Given the description of an element on the screen output the (x, y) to click on. 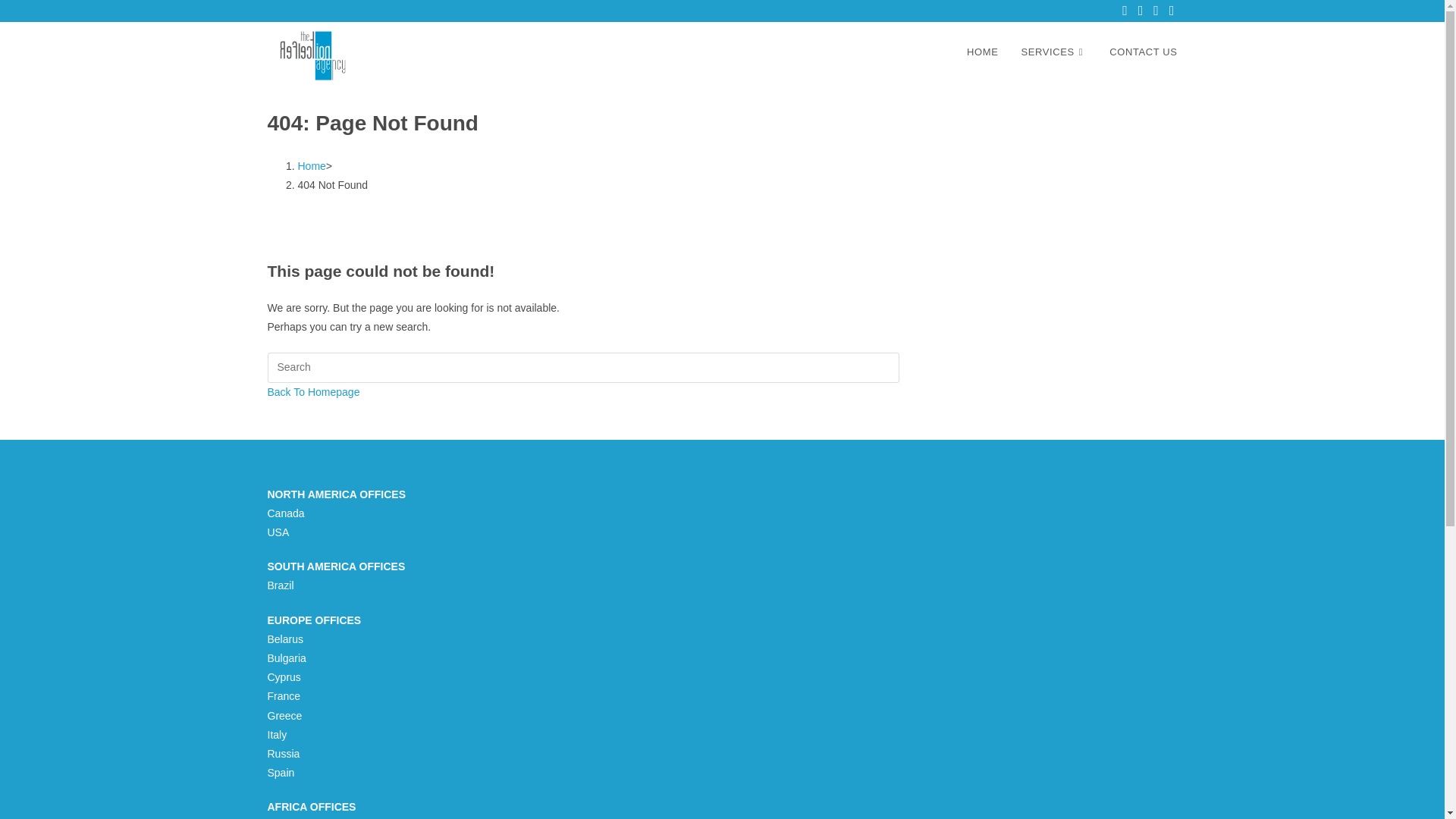
SERVICES (1054, 51)
Back To Homepage (312, 391)
HOME (982, 51)
CONTACT US (1142, 51)
Home (310, 165)
